Given the description of an element on the screen output the (x, y) to click on. 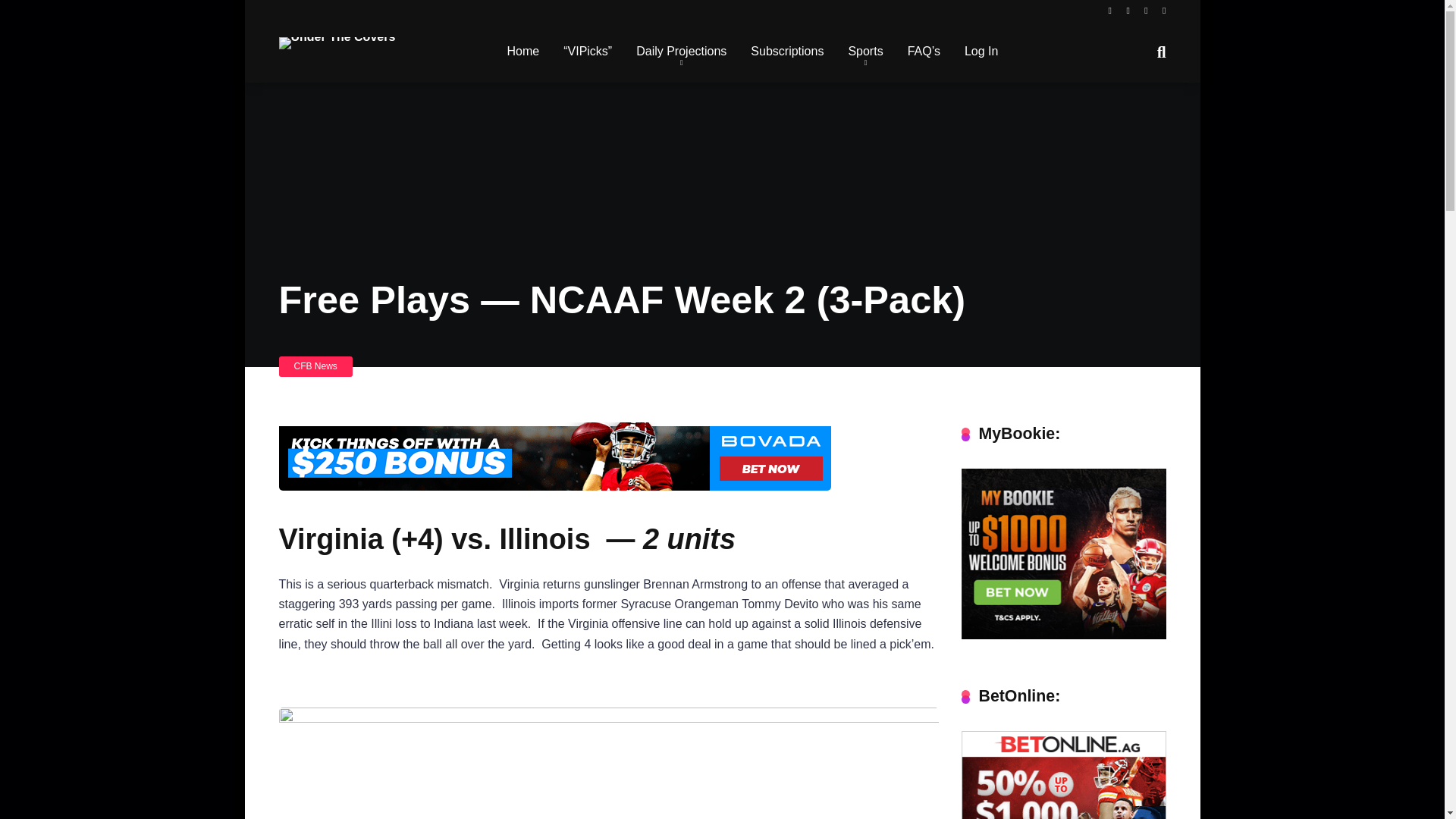
Subscriptions (786, 52)
Log In (981, 52)
CFB News (315, 366)
Sports (865, 52)
Daily Projections (681, 52)
Home (523, 52)
Under The Covers (337, 37)
